Given the description of an element on the screen output the (x, y) to click on. 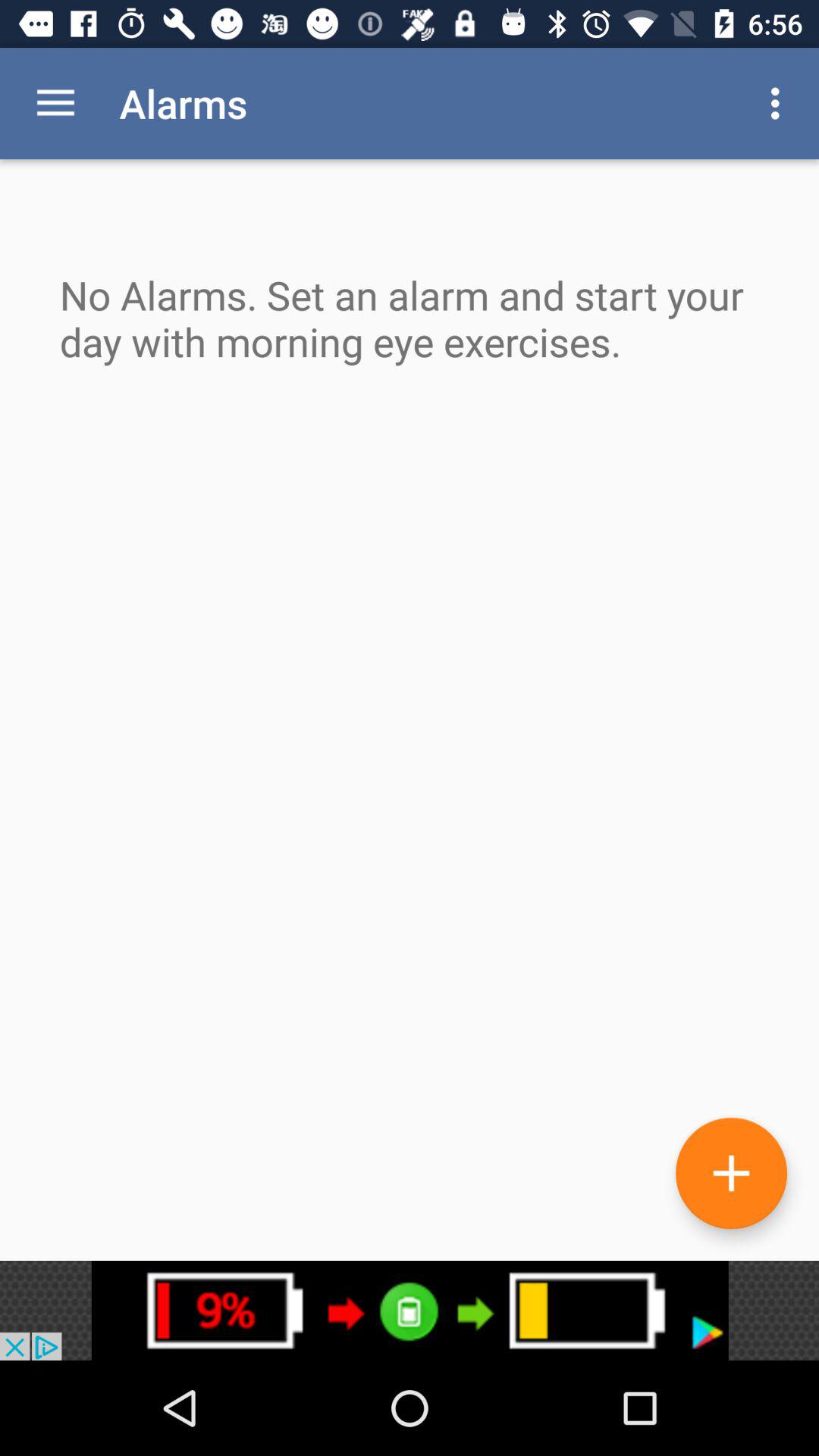
advertisements button (409, 1310)
